Given the description of an element on the screen output the (x, y) to click on. 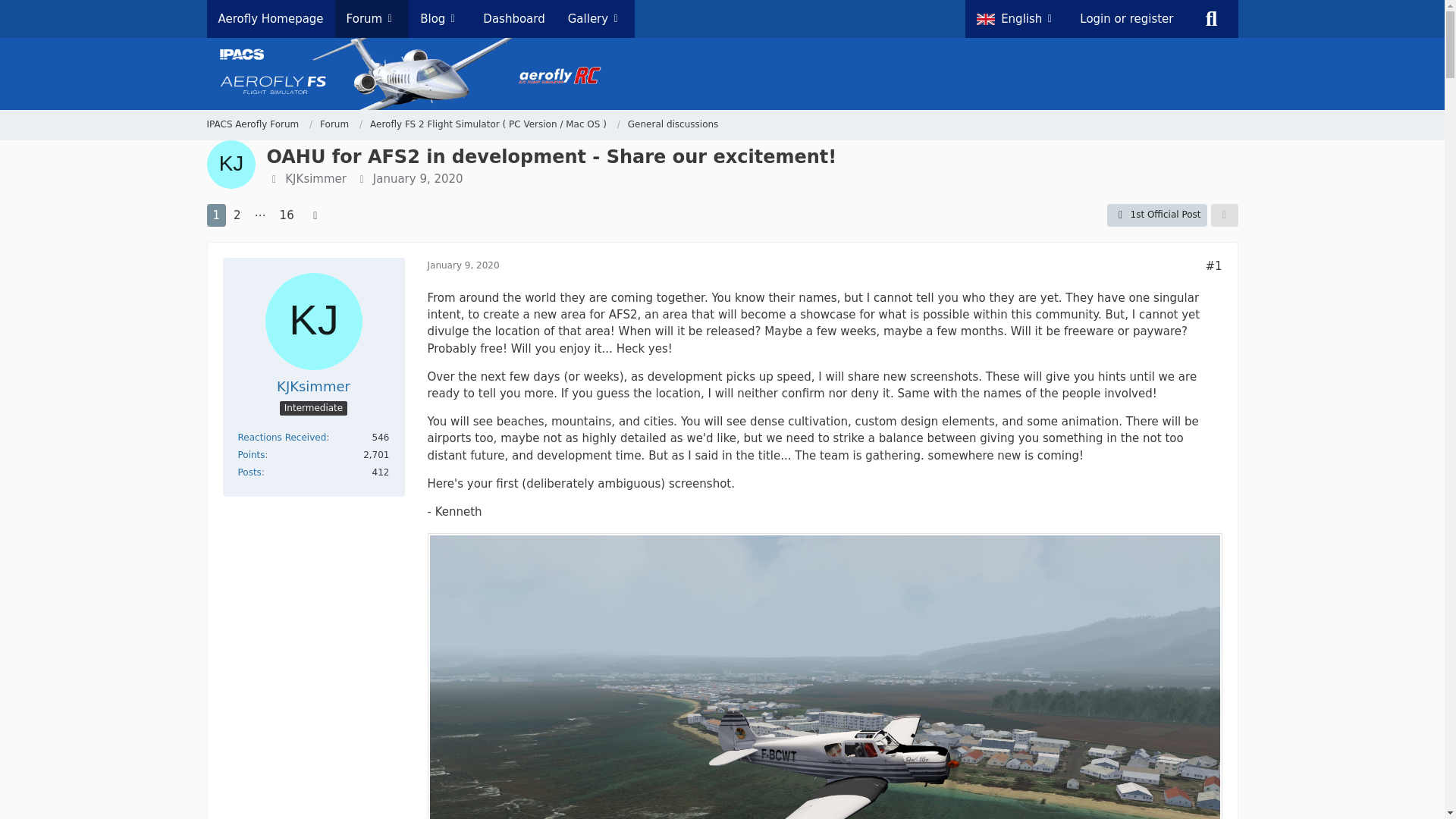
IPACS Aerofly Forum (252, 124)
General discussions (673, 124)
Login or register (1126, 18)
Points (251, 454)
Forum (341, 124)
Aerofly Homepage (270, 18)
Reactions Received (282, 437)
16 (286, 214)
